Given the description of an element on the screen output the (x, y) to click on. 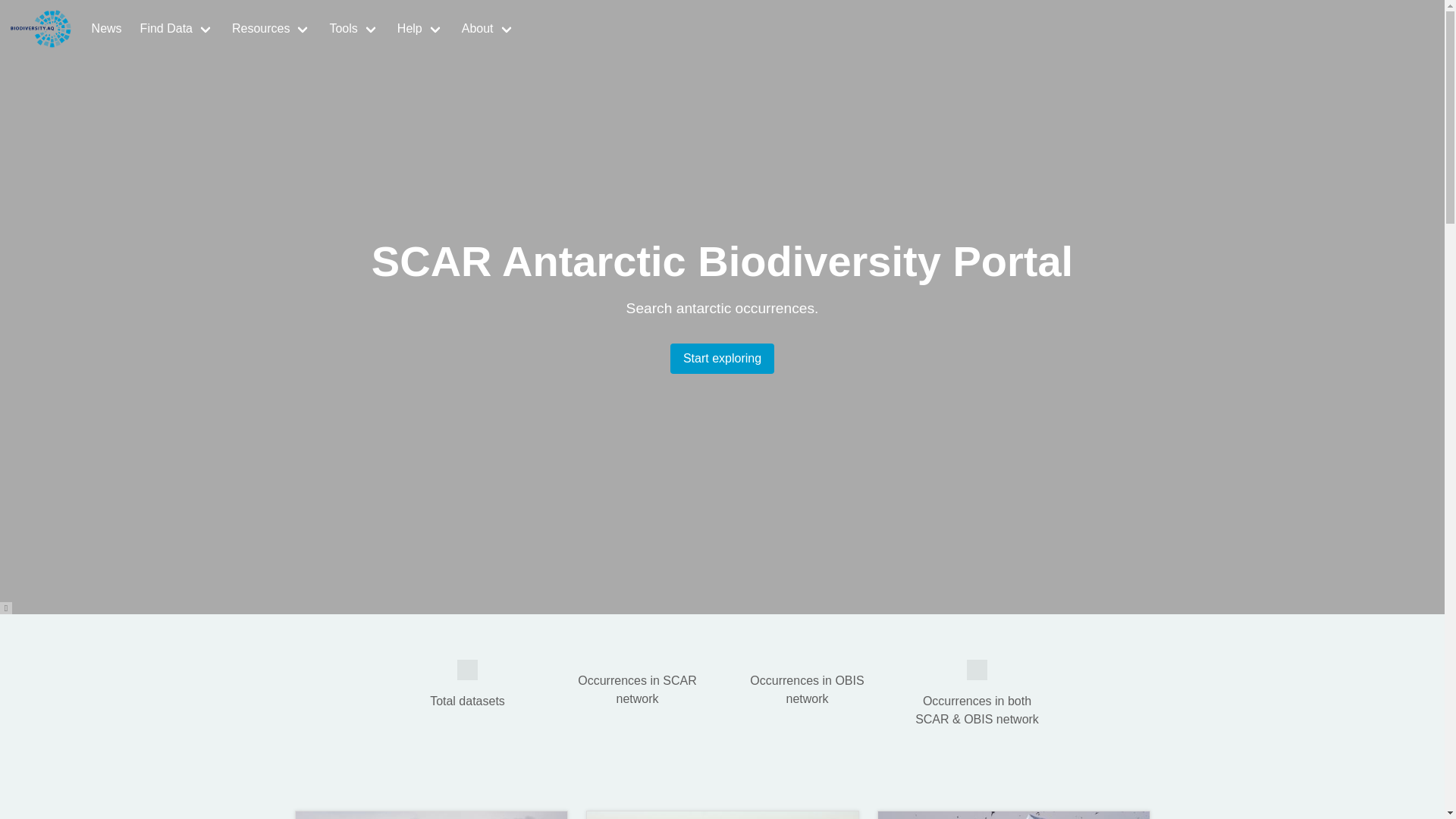
Tools (353, 28)
Resources (271, 28)
Find Data (176, 28)
About (488, 28)
Help (420, 28)
xx (467, 670)
Start exploring (721, 358)
